Given the description of an element on the screen output the (x, y) to click on. 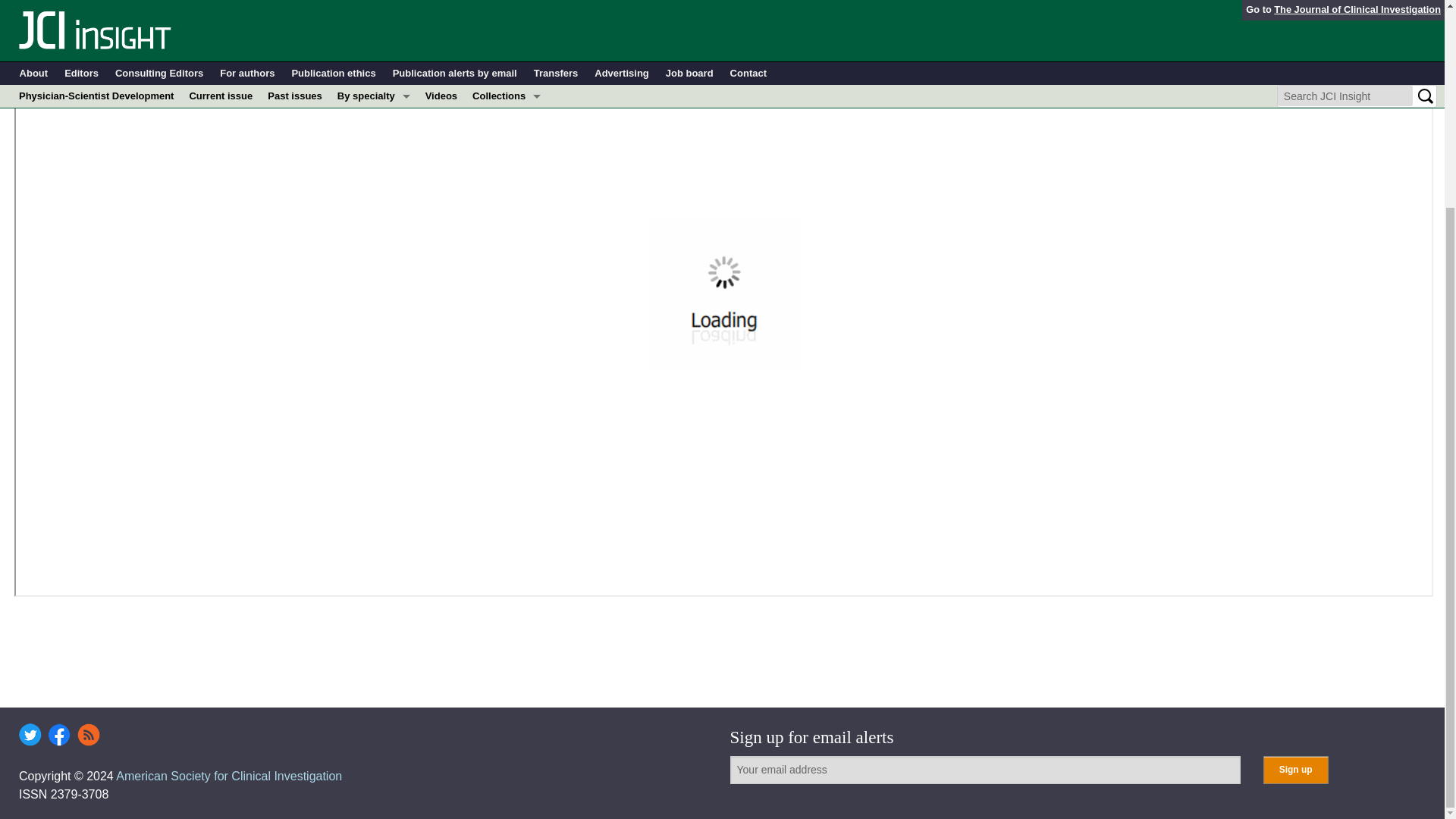
Top read articles (506, 11)
Twitter (30, 734)
Facebook (58, 734)
RSS (88, 734)
Sign up (1295, 769)
All ... (373, 11)
